Given the description of an element on the screen output the (x, y) to click on. 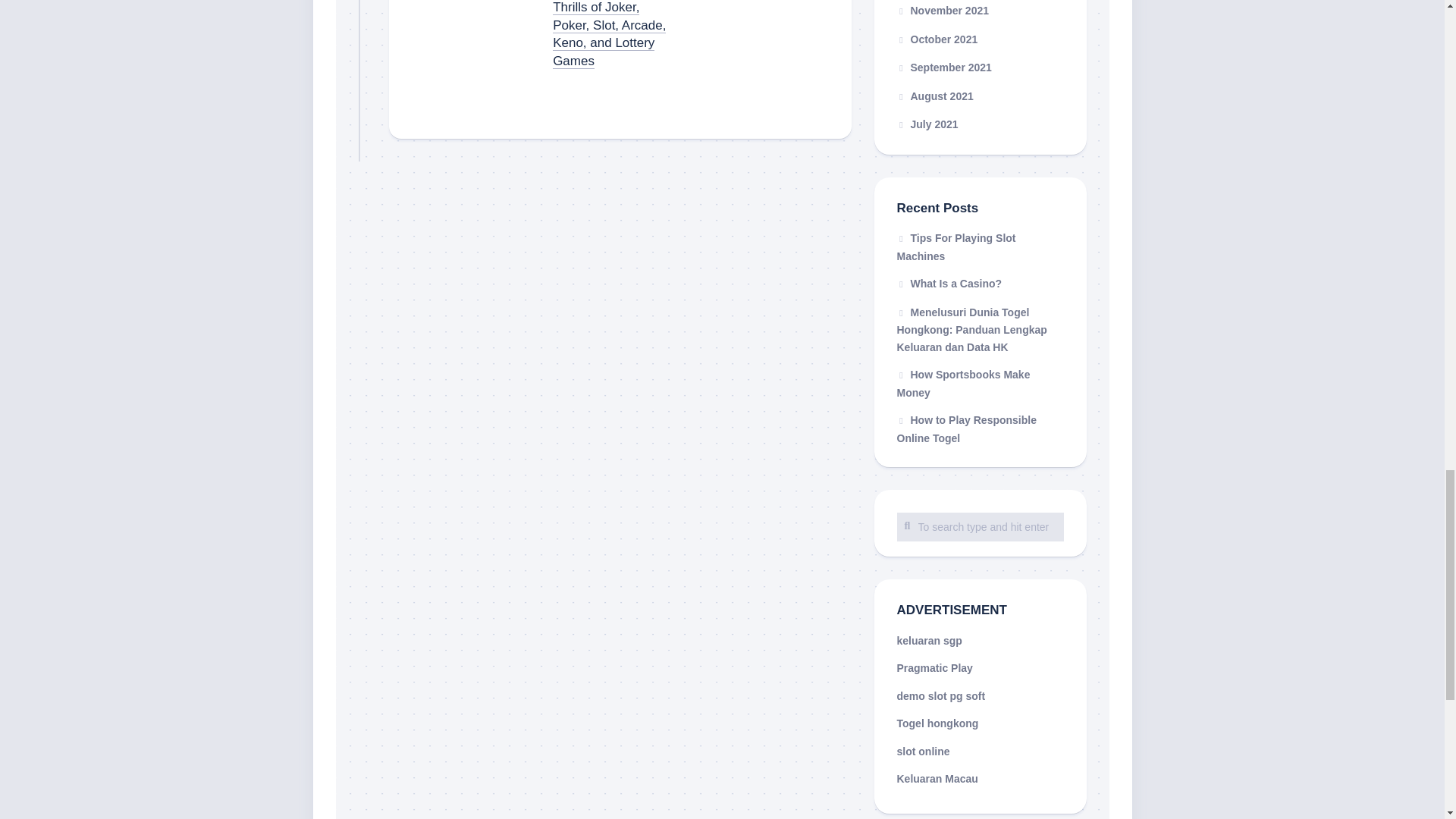
To search type and hit enter (979, 526)
To search type and hit enter (979, 526)
